Given the description of an element on the screen output the (x, y) to click on. 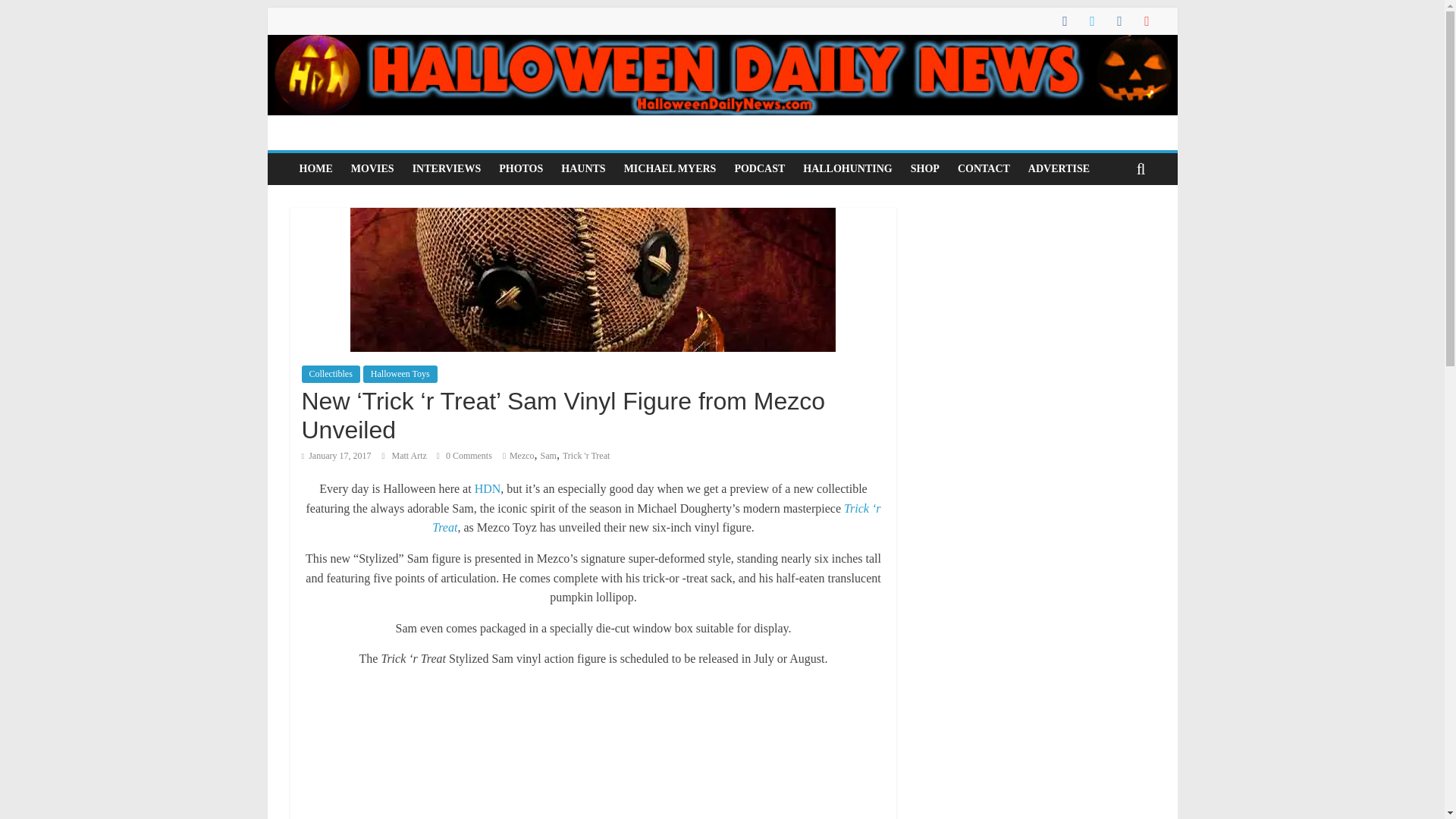
MICHAEL MYERS (669, 169)
HOME (314, 169)
Matt Artz (410, 455)
PODCAST (759, 169)
PHOTOS (520, 169)
Sam (548, 455)
Instagram (976, 229)
INTERVIEWS (446, 169)
Matt Artz (410, 455)
